Given the description of an element on the screen output the (x, y) to click on. 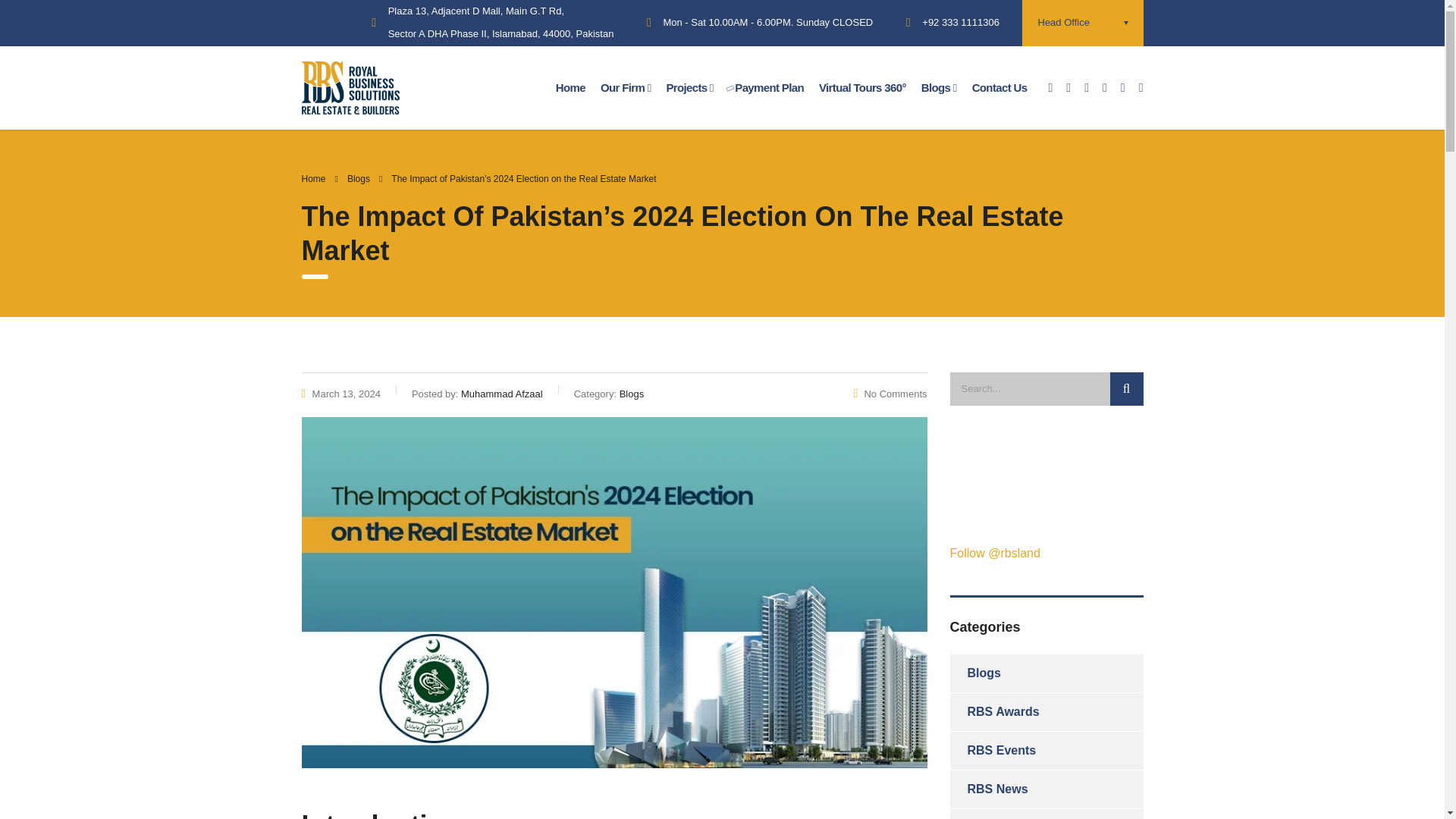
Go to RBS International. (313, 178)
Projects (689, 87)
Go to the Blogs category archives. (358, 178)
Home (570, 87)
Our Firm (625, 87)
